Given the description of an element on the screen output the (x, y) to click on. 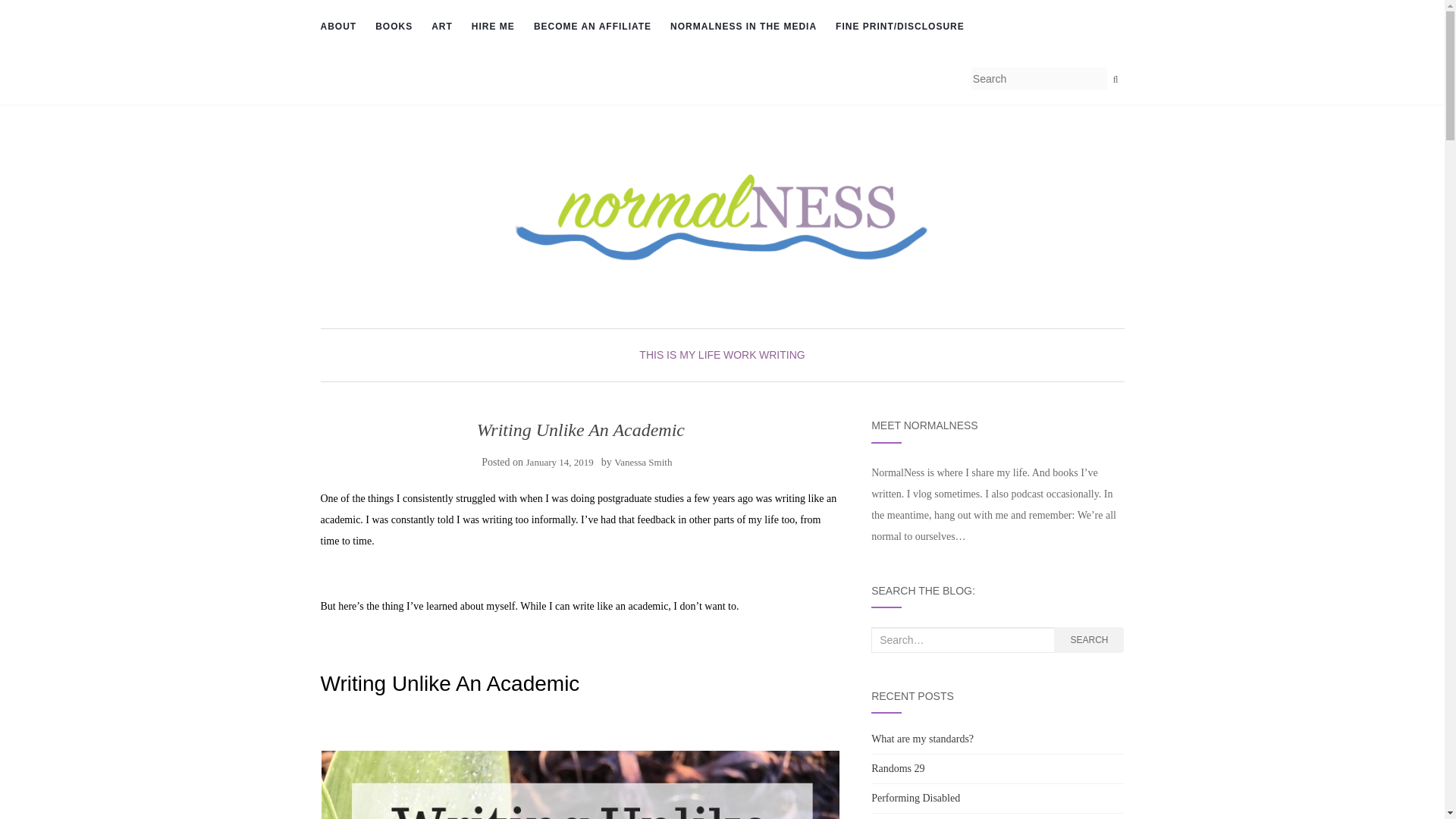
January 14, 2019 (559, 461)
THIS IS MY LIFE (679, 354)
Become an Affiliate (592, 27)
NORMALNESS IN THE MEDIA (742, 27)
WRITING (781, 354)
WORK (740, 354)
NormalNess In The Media (742, 27)
Vanessa Smith (642, 461)
BECOME AN AFFILIATE (592, 27)
Search for: (962, 639)
